Given the description of an element on the screen output the (x, y) to click on. 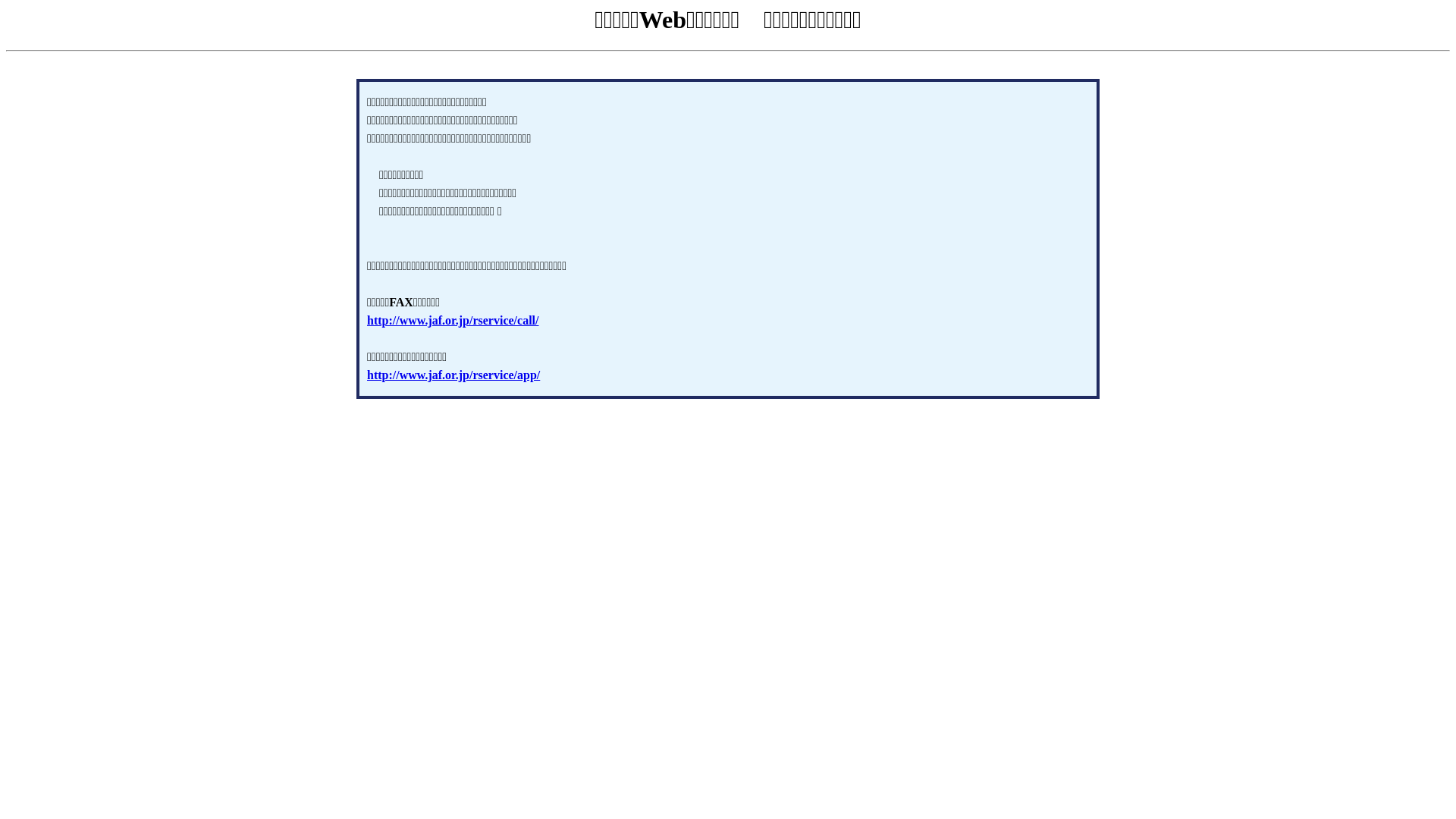
http://www.jaf.or.jp/rservice/app/ Element type: text (453, 374)
http://www.jaf.or.jp/rservice/call/ Element type: text (452, 319)
